Given the description of an element on the screen output the (x, y) to click on. 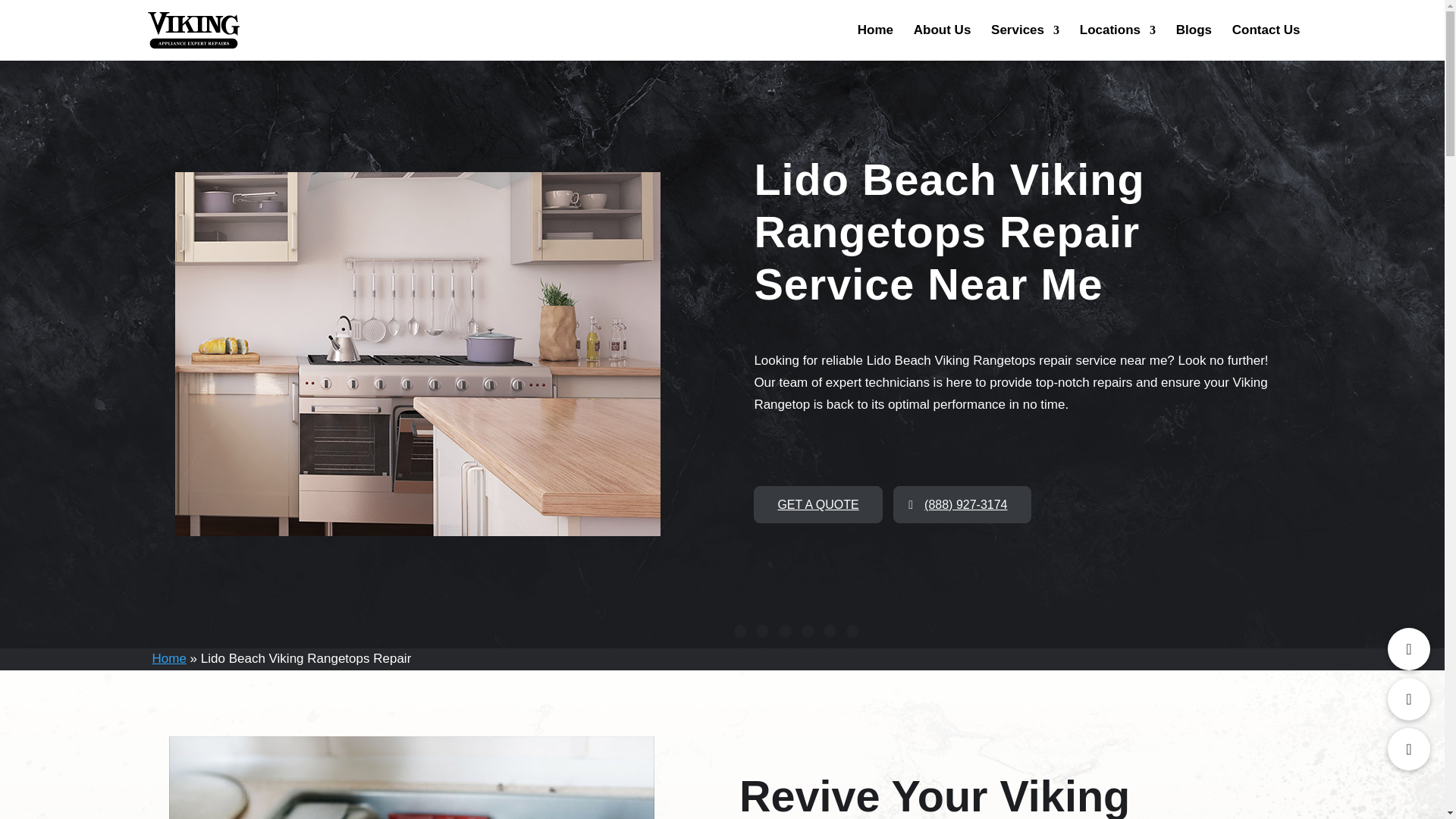
Blogs (1193, 42)
Services (1025, 42)
Locations (1118, 42)
Home (875, 42)
Contact Us (1265, 42)
About Us (942, 42)
